Given the description of an element on the screen output the (x, y) to click on. 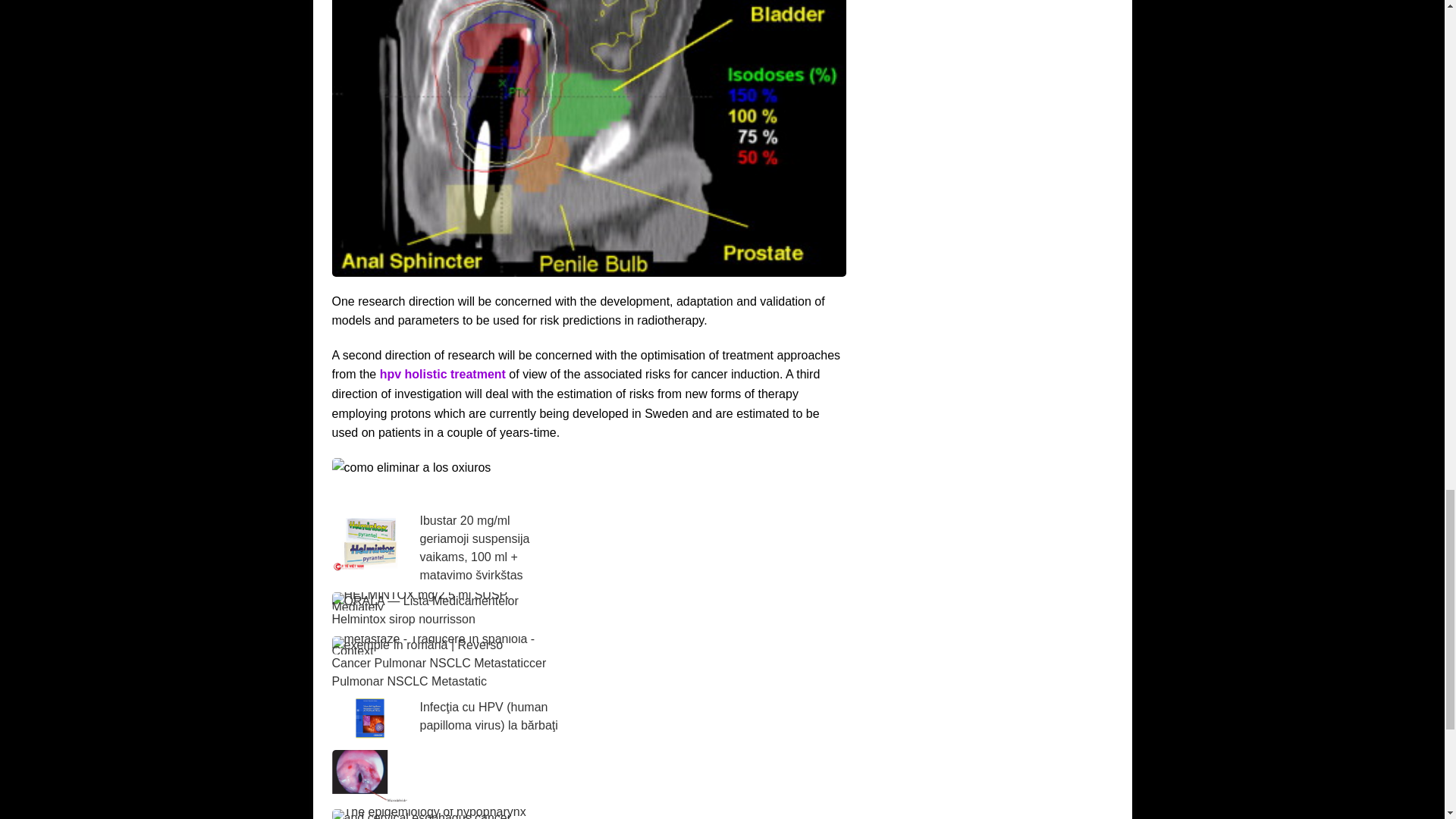
hpv holistic treatment (442, 373)
Helmintox sirop nourrisson (403, 618)
